Given the description of an element on the screen output the (x, y) to click on. 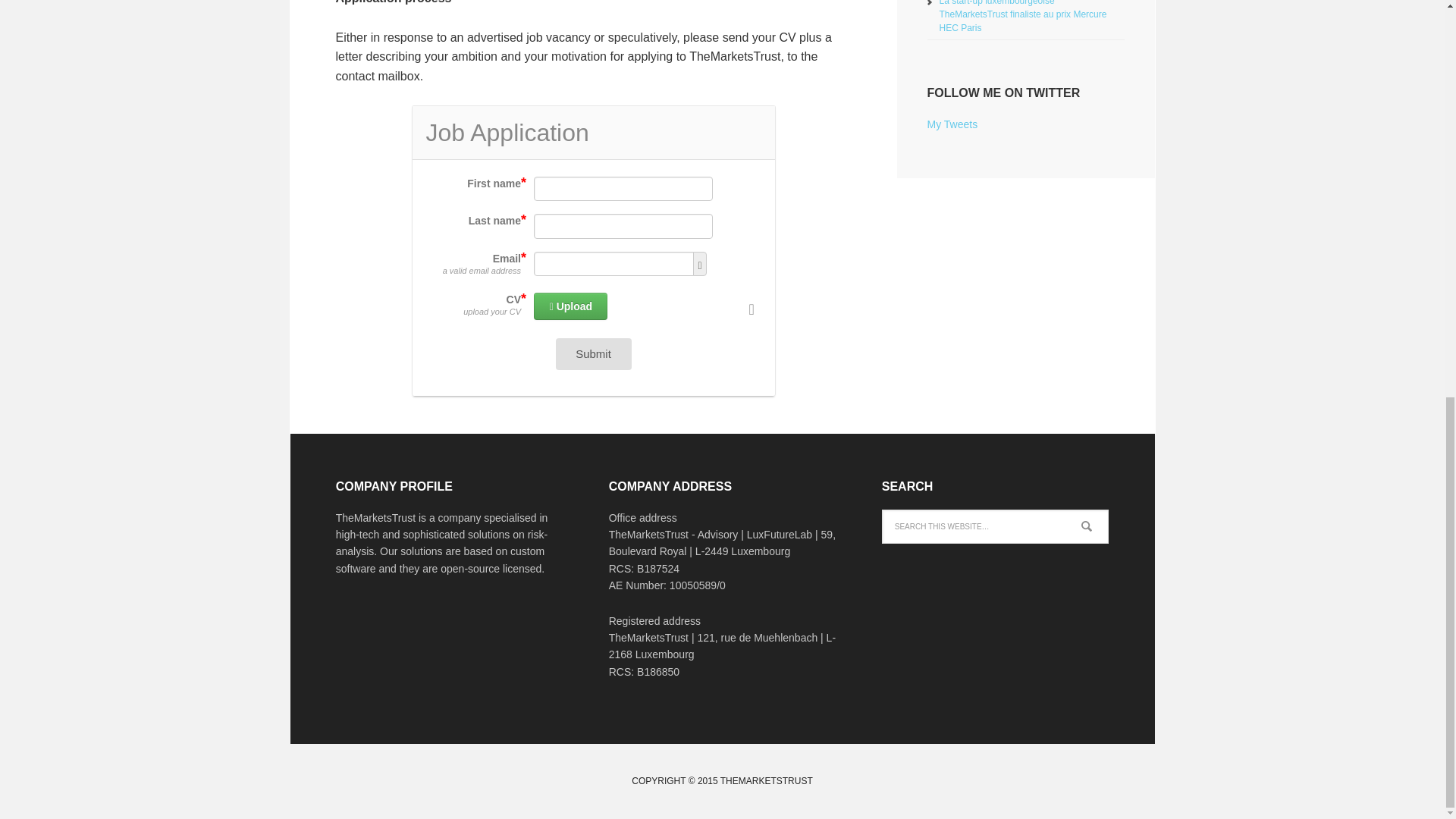
Submit (592, 354)
